Given the description of an element on the screen output the (x, y) to click on. 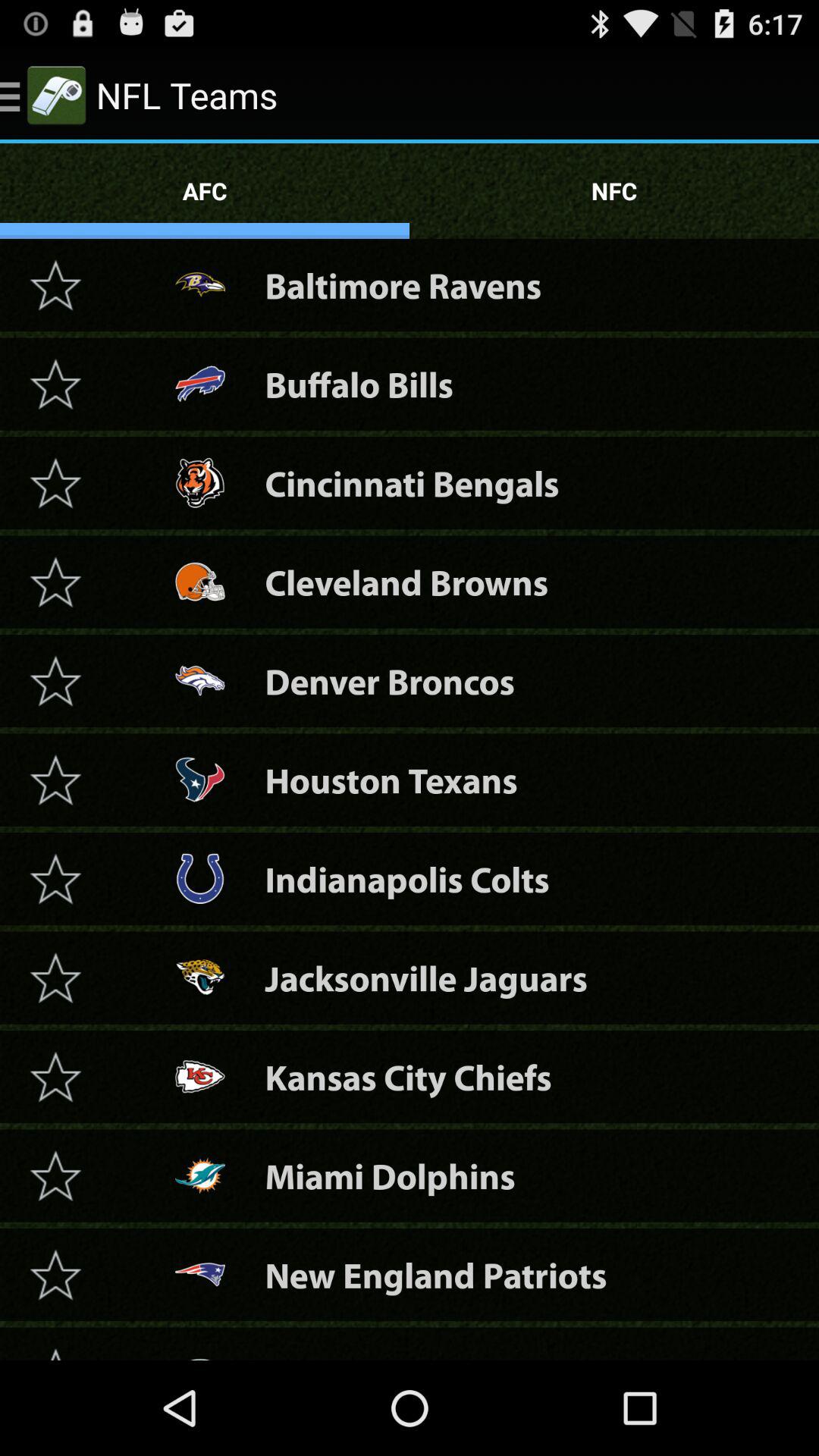
turn on the cleveland browns item (406, 581)
